Given the description of an element on the screen output the (x, y) to click on. 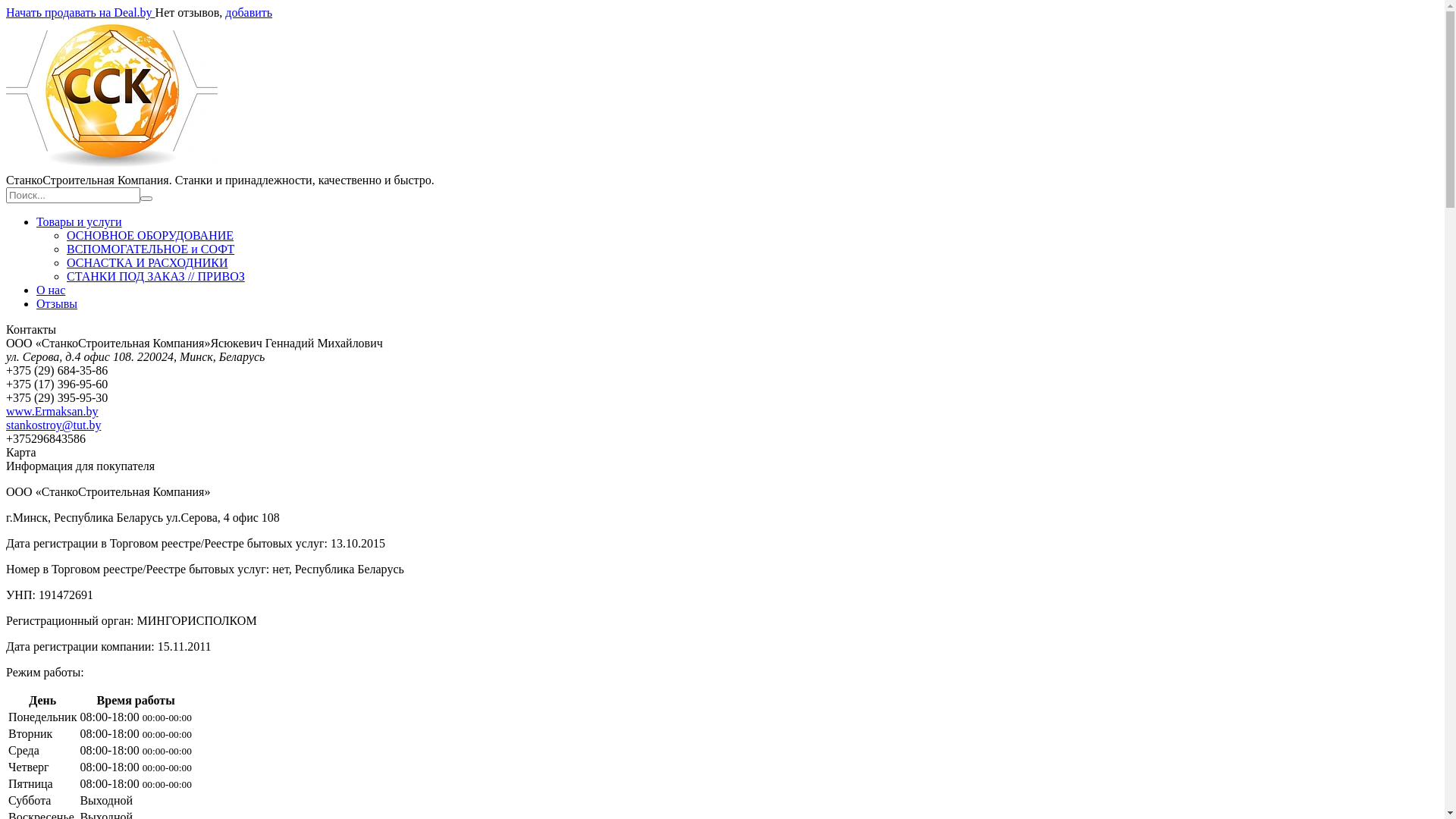
stankostroy@tut.by Element type: text (53, 424)
www.Ermaksan.by Element type: text (52, 410)
